Given the description of an element on the screen output the (x, y) to click on. 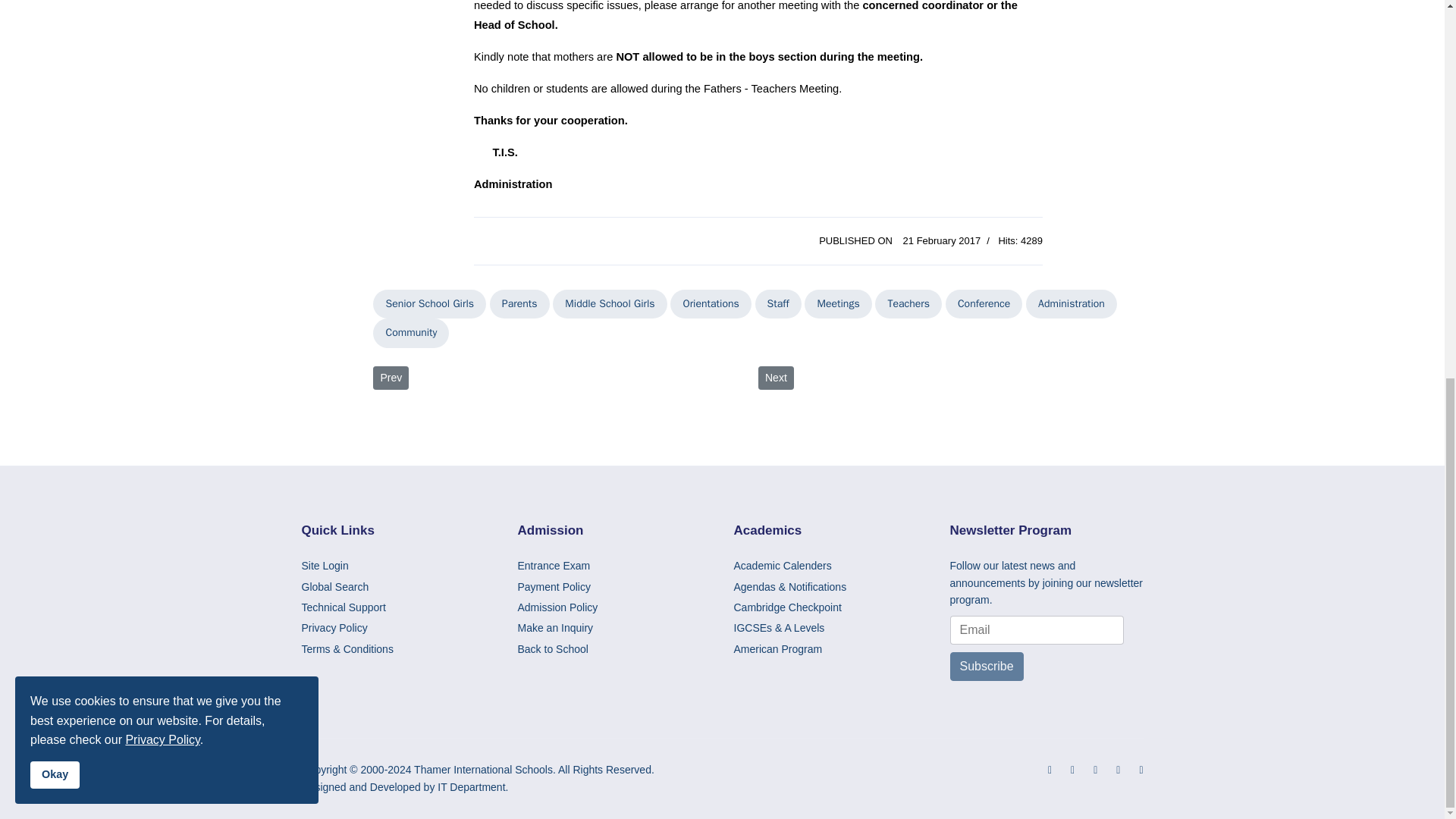
Subscribe (986, 665)
Published: 21 February 2017 (898, 240)
